Given the description of an element on the screen output the (x, y) to click on. 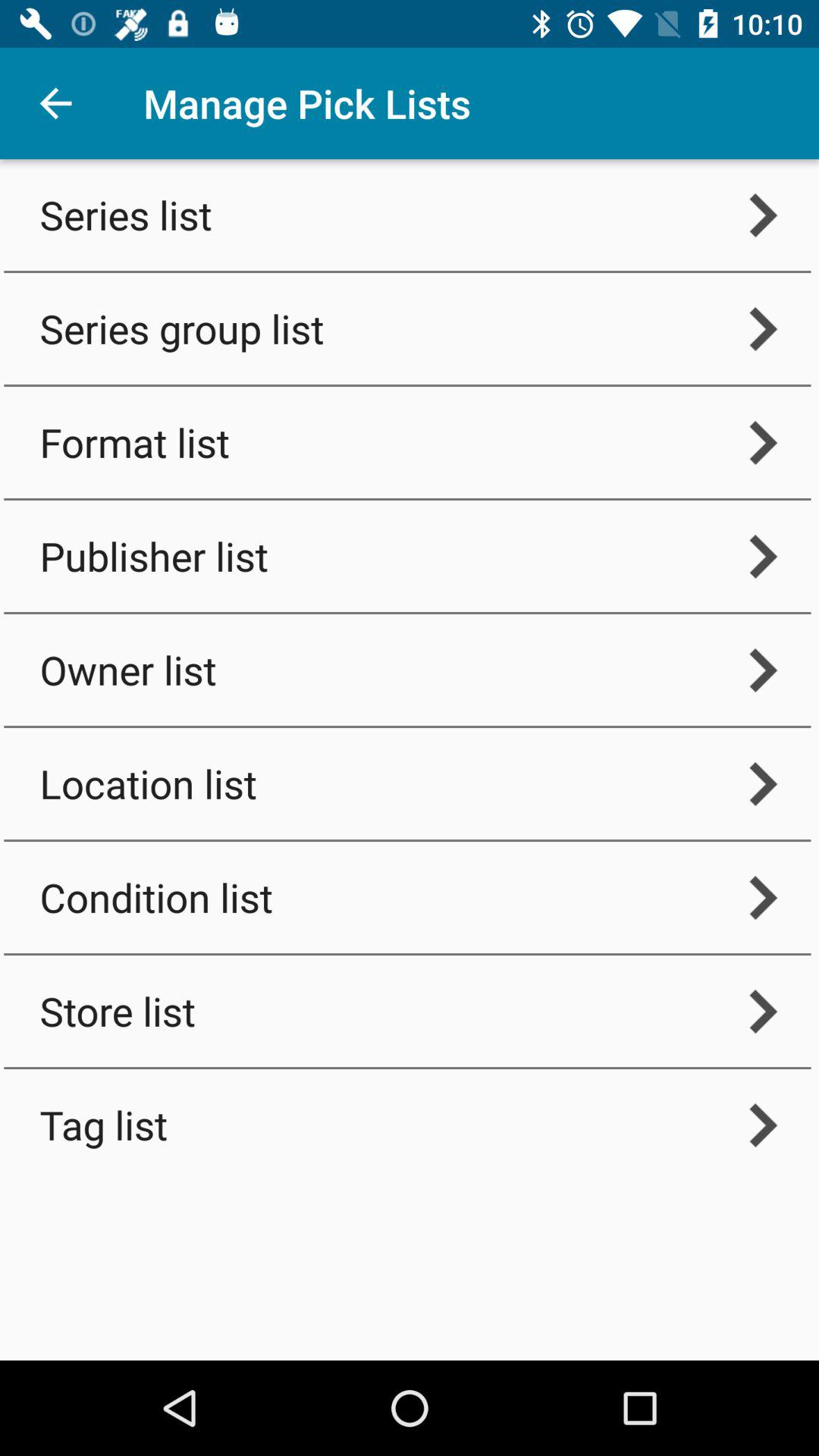
select icon at the top left corner (55, 103)
